Given the description of an element on the screen output the (x, y) to click on. 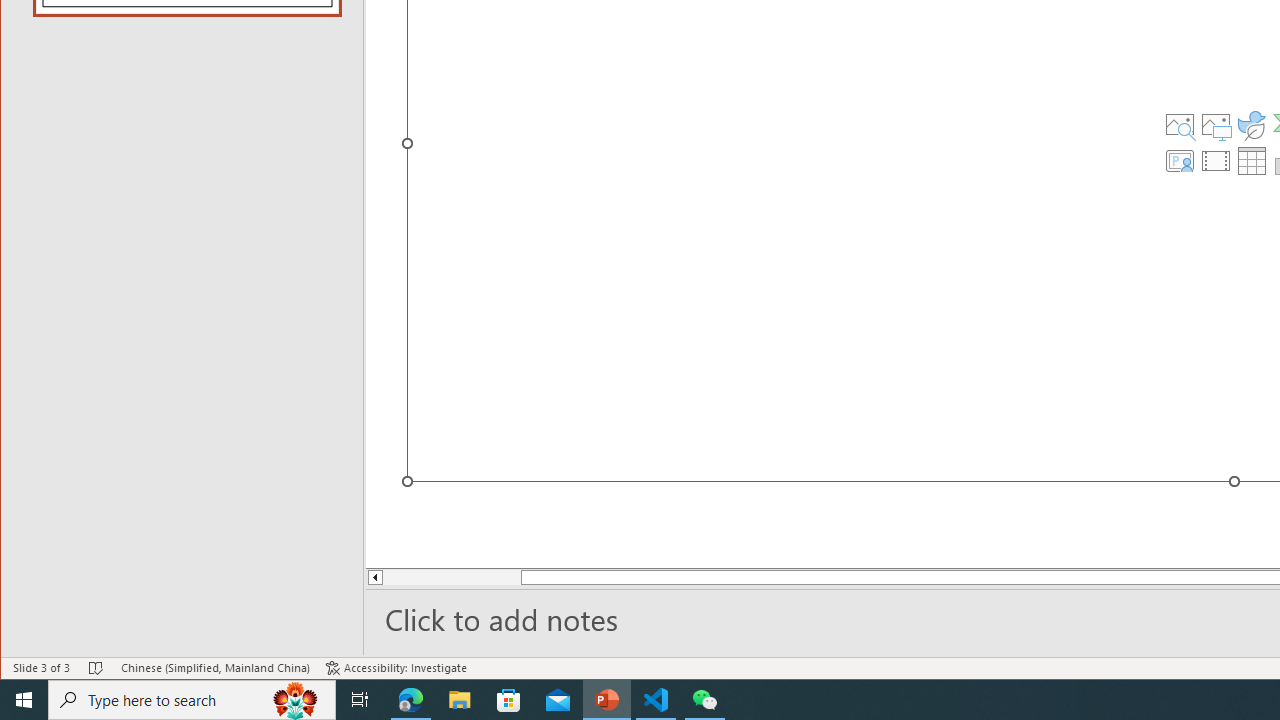
PowerPoint - 1 running window (607, 699)
Pictures (1215, 124)
File Explorer (460, 699)
Visual Studio Code - 1 running window (656, 699)
Type here to search (191, 699)
Insert Video (1215, 160)
Line up (374, 577)
Stock Images (1179, 124)
Microsoft Store (509, 699)
Insert an Icon (1252, 124)
Insert Table (1252, 160)
Task View (359, 699)
Start (24, 699)
Page up (438, 577)
